Given the description of an element on the screen output the (x, y) to click on. 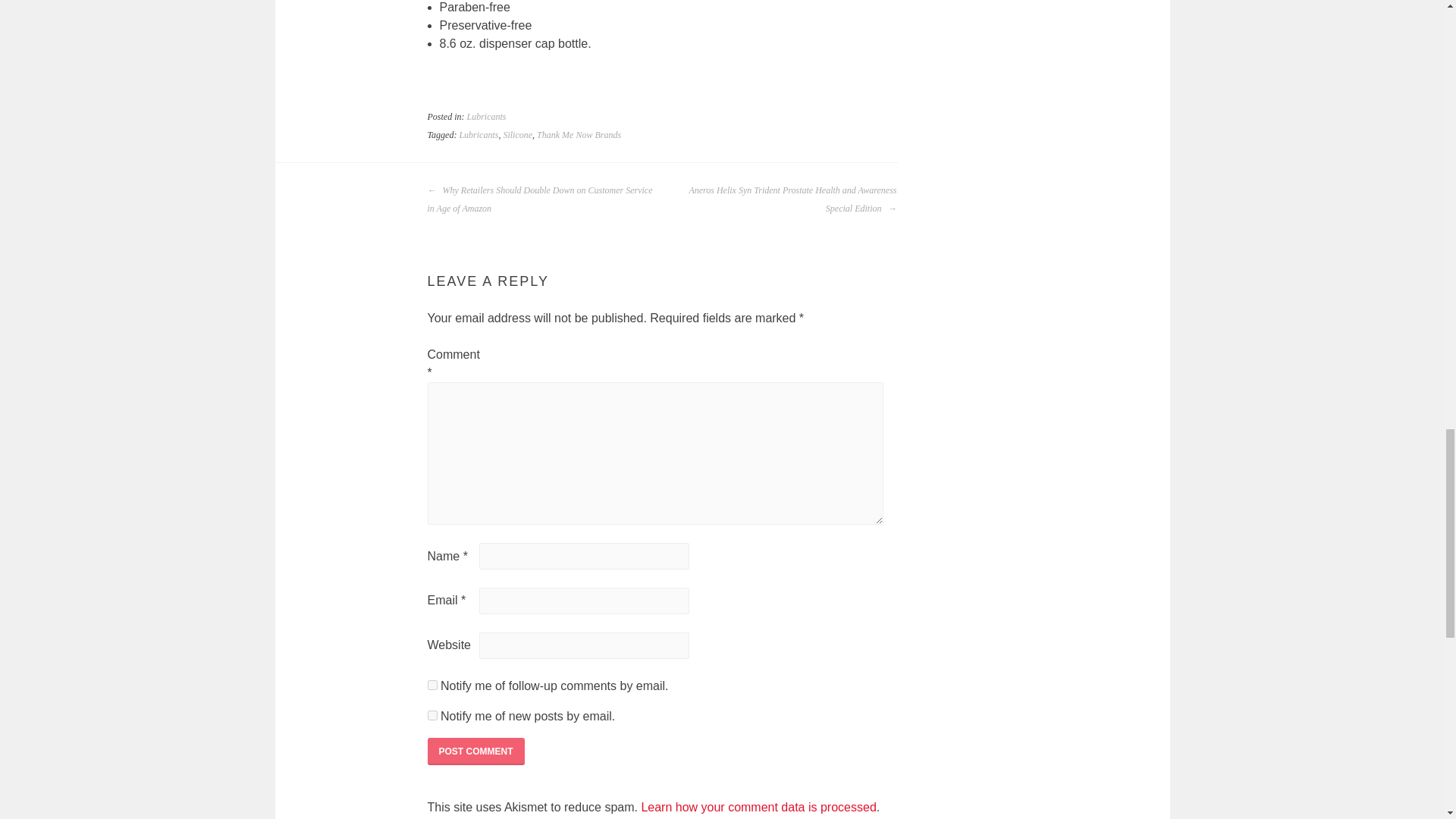
Lubricants (486, 116)
Silicone (517, 134)
Post Comment (476, 750)
Learn how your comment data is processed (758, 807)
Post Comment (476, 750)
Thank Me Now Brands (579, 134)
subscribe (433, 715)
Lubricants (477, 134)
subscribe (433, 685)
